Given the description of an element on the screen output the (x, y) to click on. 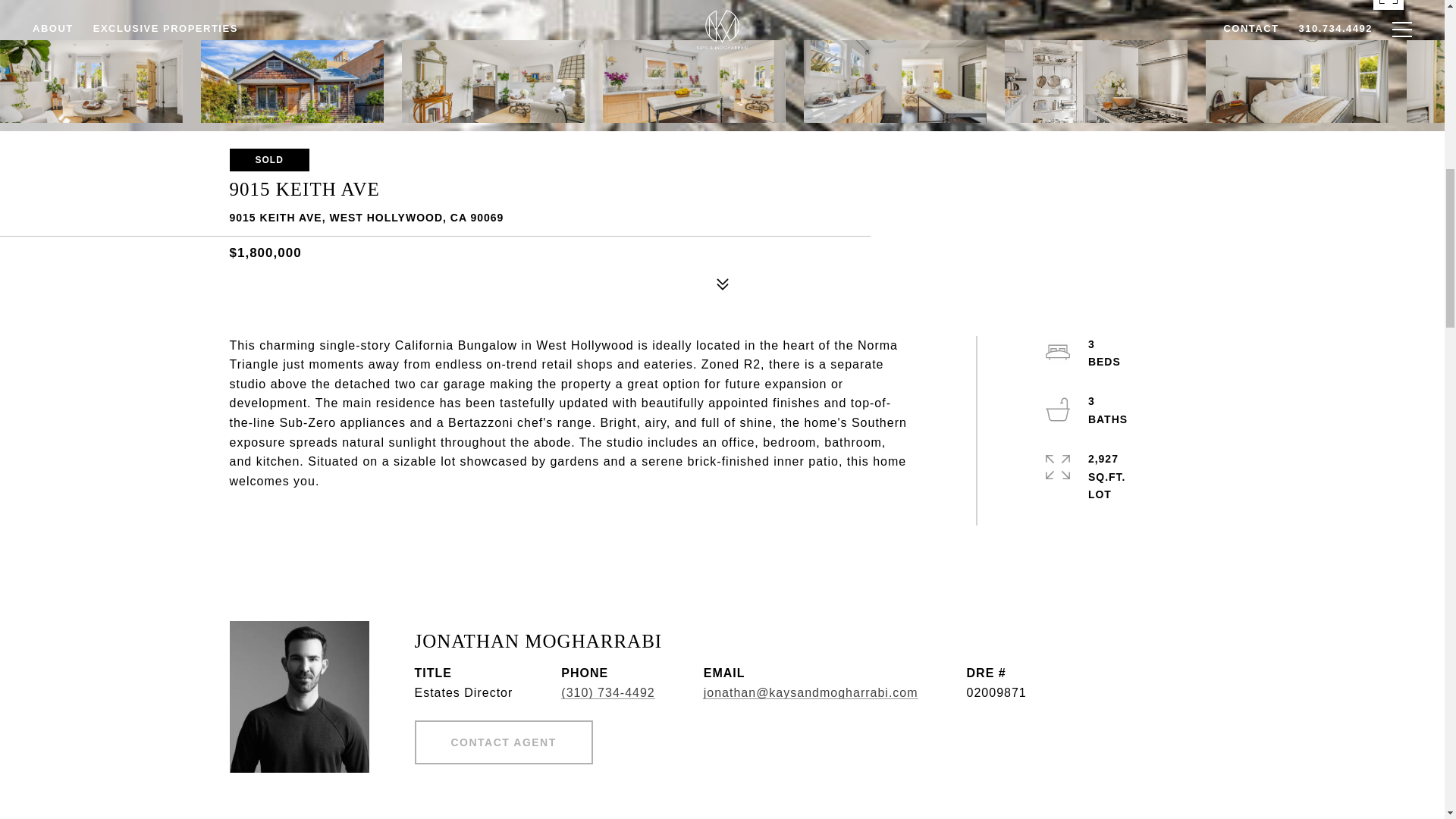
CONTACT AGENT (502, 742)
